Given the description of an element on the screen output the (x, y) to click on. 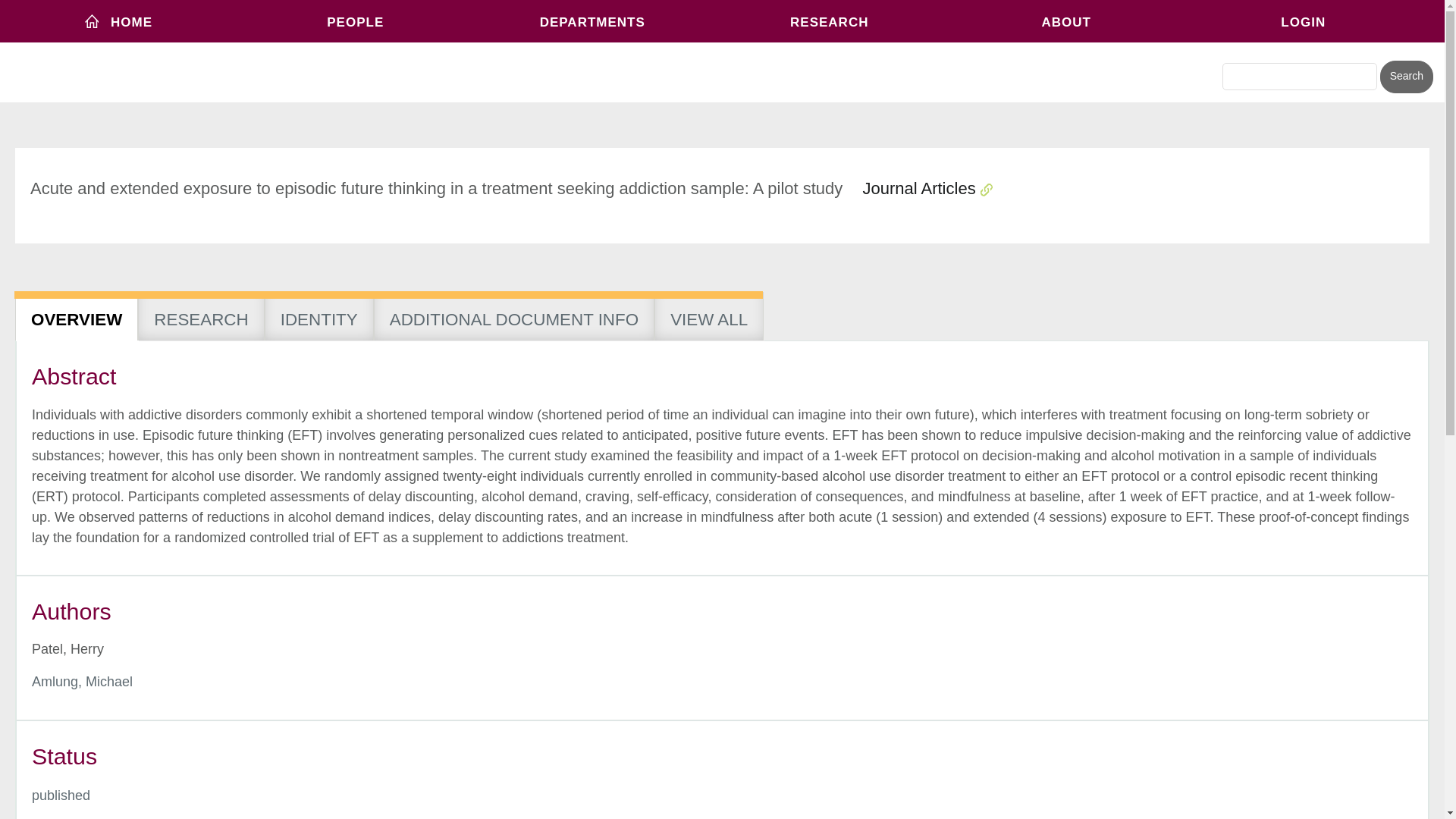
ABOUT (1066, 21)
Home menu item (118, 21)
Amlung, Michael (82, 681)
PEOPLE (355, 21)
HOME (118, 21)
RESEARCH (829, 21)
published (61, 795)
Research menu item (829, 21)
DEPARTMENTS (592, 21)
People menu item (355, 21)
About menu item (1066, 21)
author name (82, 681)
Departments menu item (592, 21)
name (61, 795)
LOGIN (1303, 21)
